Given the description of an element on the screen output the (x, y) to click on. 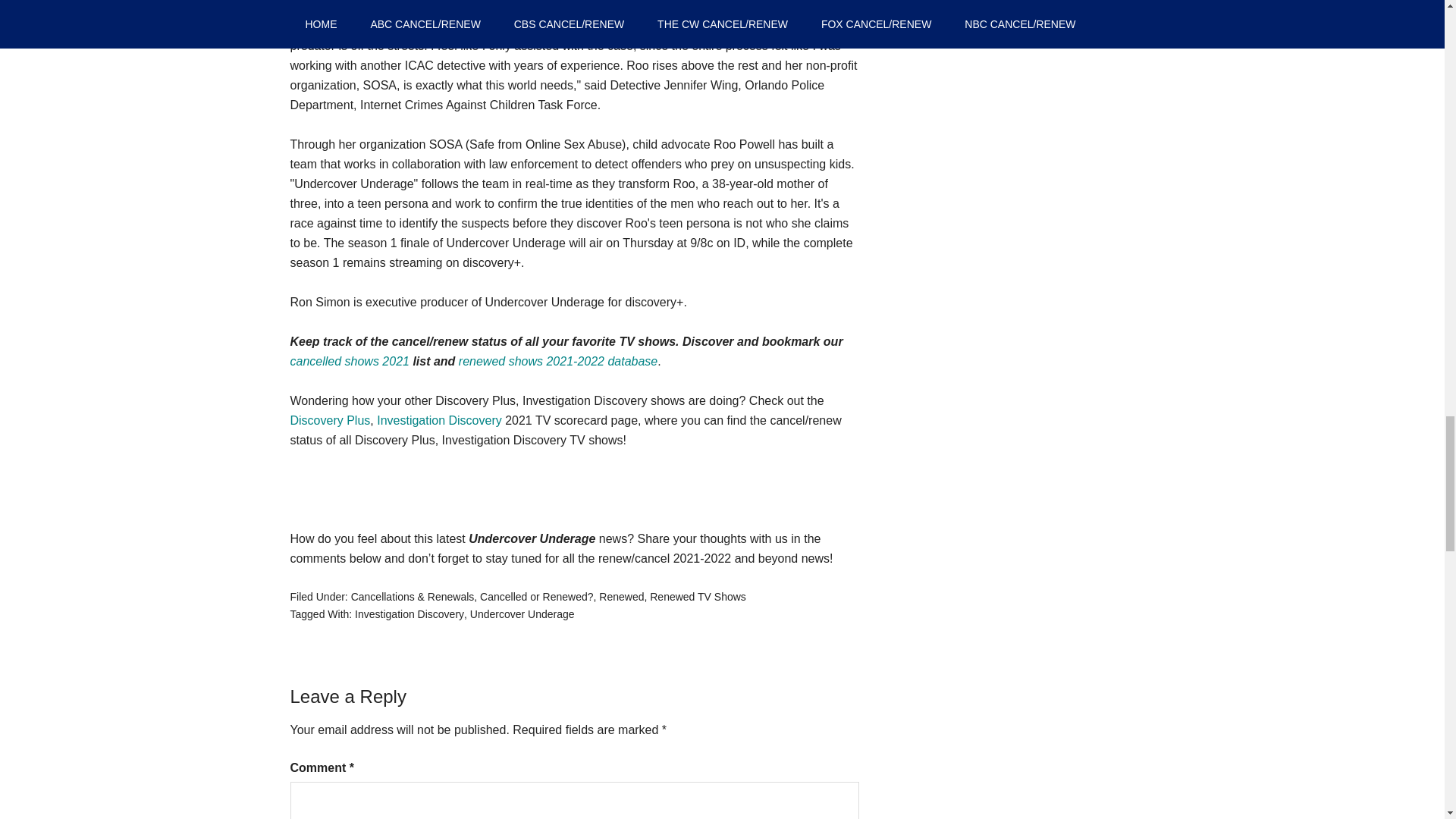
Discovery Plus (329, 420)
Investigation Discovery (409, 613)
Renewed TV Shows (697, 596)
Renewed (620, 596)
Undercover Underage (522, 613)
renewed shows 2021-2022 database (558, 360)
Cancelled or Renewed? (536, 596)
Investigation Discovery (439, 420)
cancelled shows 2021 (349, 360)
